Given the description of an element on the screen output the (x, y) to click on. 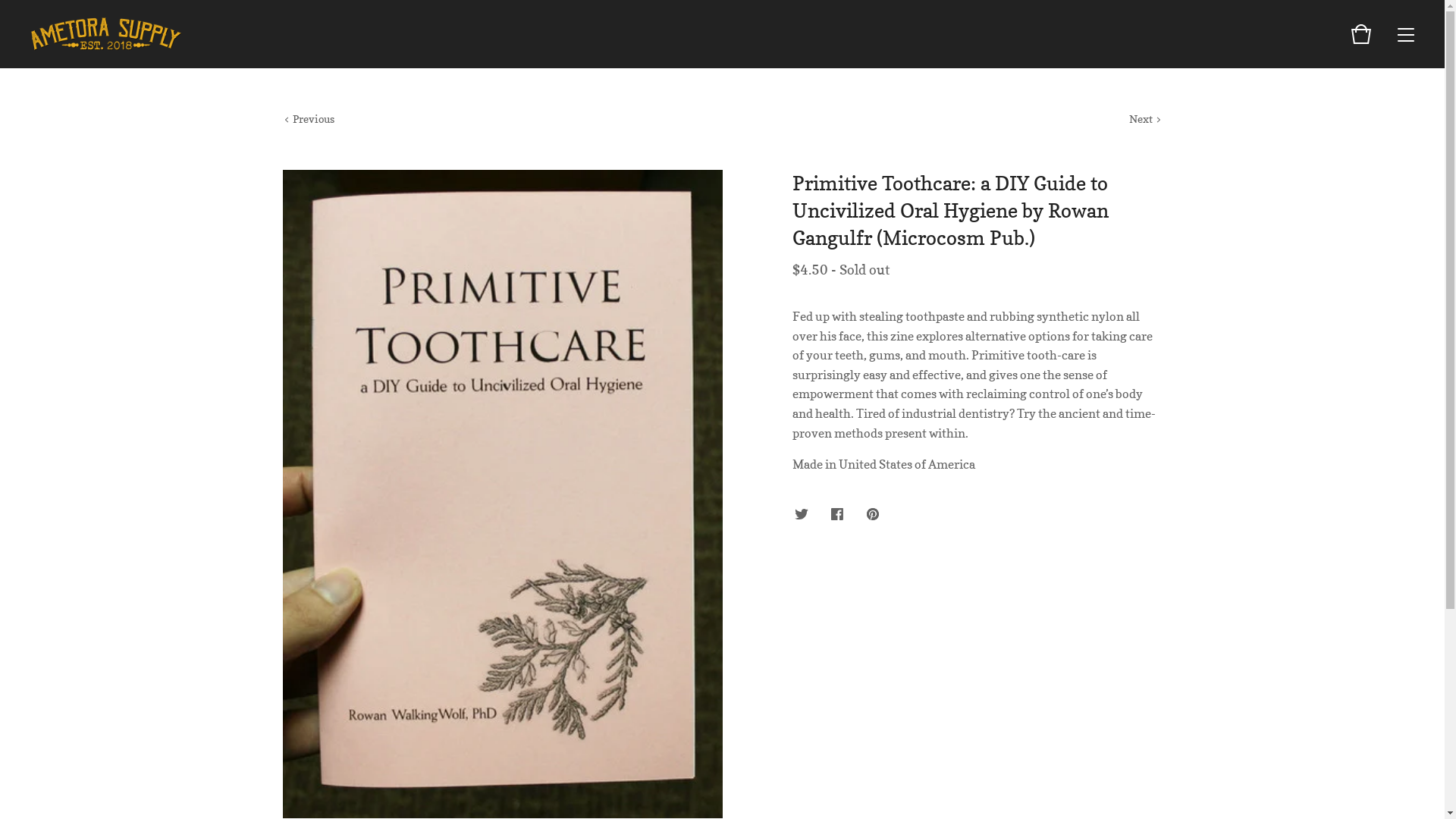
Tweet Element type: hover (801, 514)
Next Element type: text (1144, 118)
ametorasupply Element type: hover (106, 34)
Menu Element type: hover (1405, 34)
Share on Facebook Element type: hover (837, 514)
Pin Element type: hover (872, 514)
Previous Element type: text (307, 118)
